Given the description of an element on the screen output the (x, y) to click on. 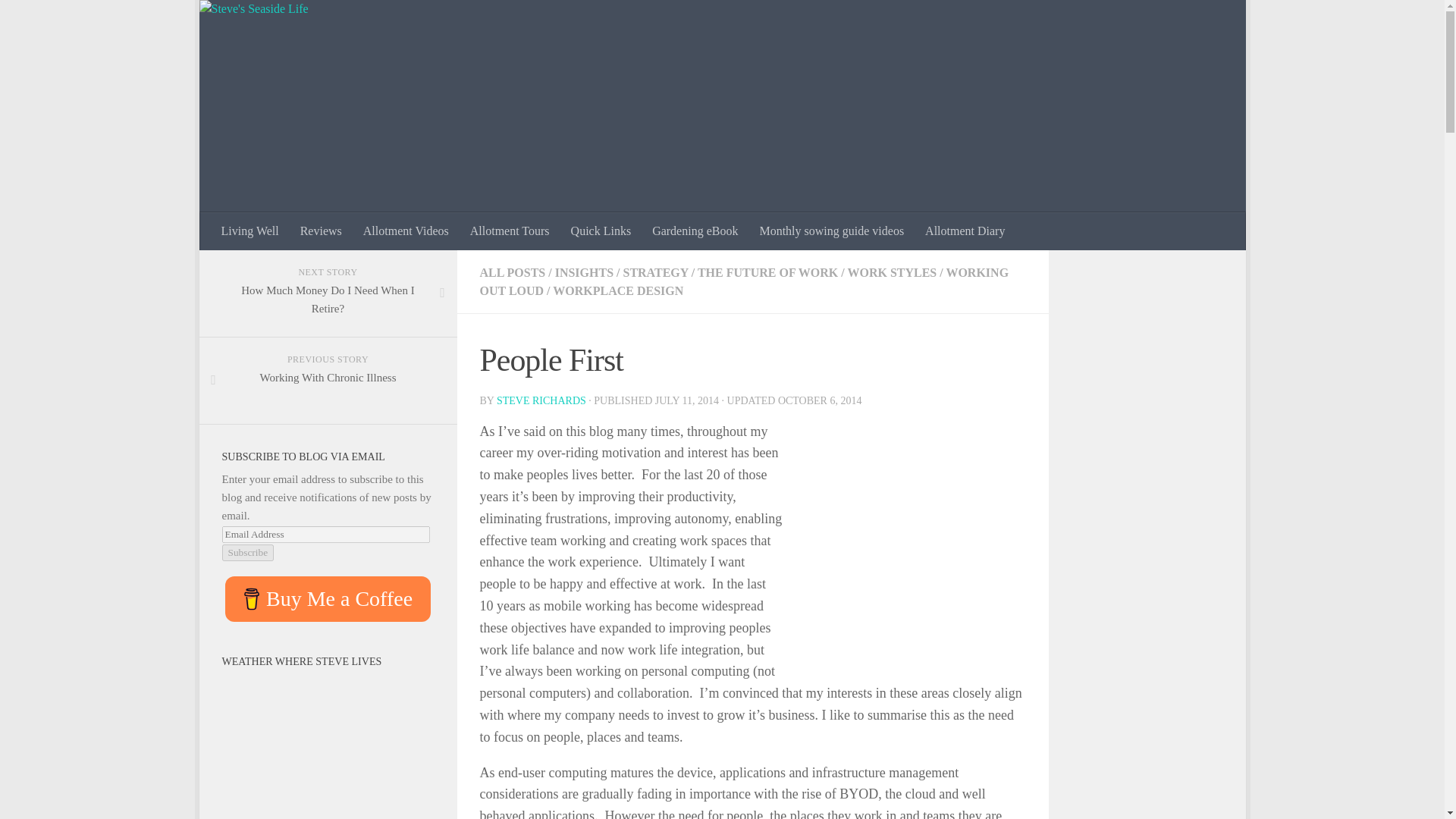
WORK STYLES (891, 272)
Quick Links (601, 231)
Gardening eBook (695, 231)
WORKPLACE DESIGN (617, 290)
Skip to content (258, 20)
STRATEGY (655, 272)
Allotment Tours (510, 231)
STEVE RICHARDS (541, 400)
INSIGHTS (583, 272)
ALL POSTS (511, 272)
Reviews (320, 231)
Allotment Videos (406, 231)
Posts by Steve Richards (541, 400)
2014-07-11 12.48.52 (904, 541)
WORKING OUT LOUD (744, 281)
